Given the description of an element on the screen output the (x, y) to click on. 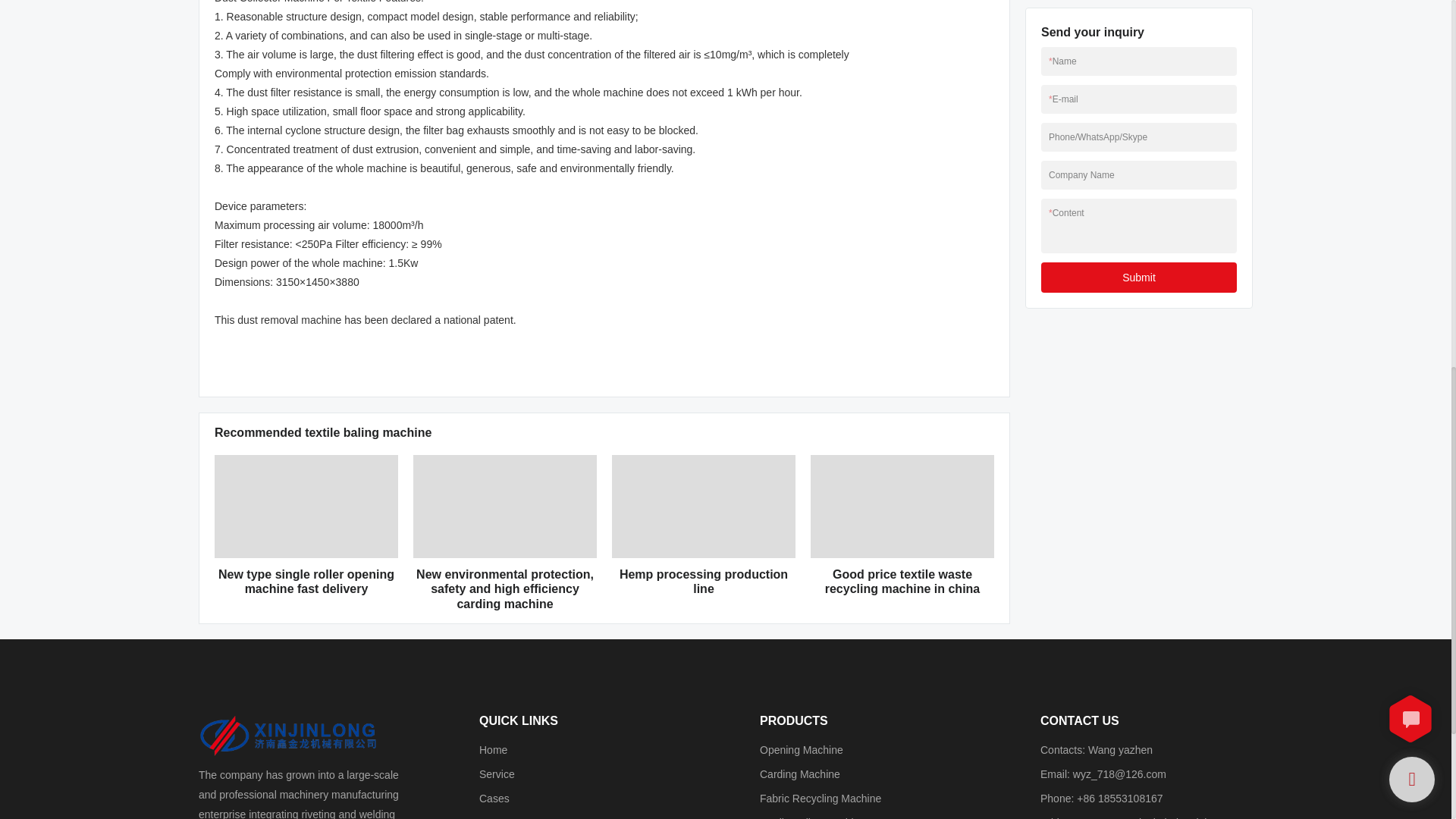
New type single roller opening machine fast delivery (306, 581)
Good price textile waste recycling machine in china (902, 581)
Hemp processing production line (703, 581)
